Given the description of an element on the screen output the (x, y) to click on. 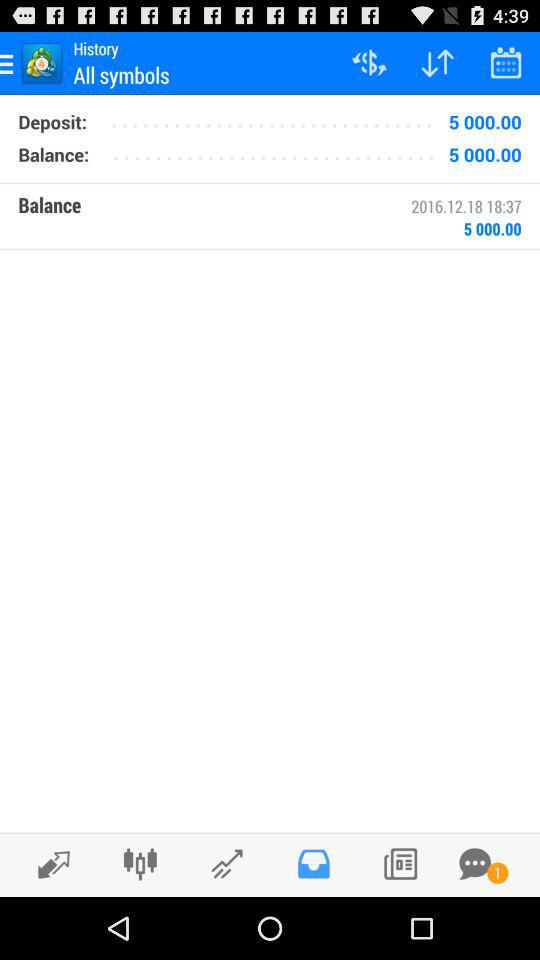
go to inbox (313, 863)
